Given the description of an element on the screen output the (x, y) to click on. 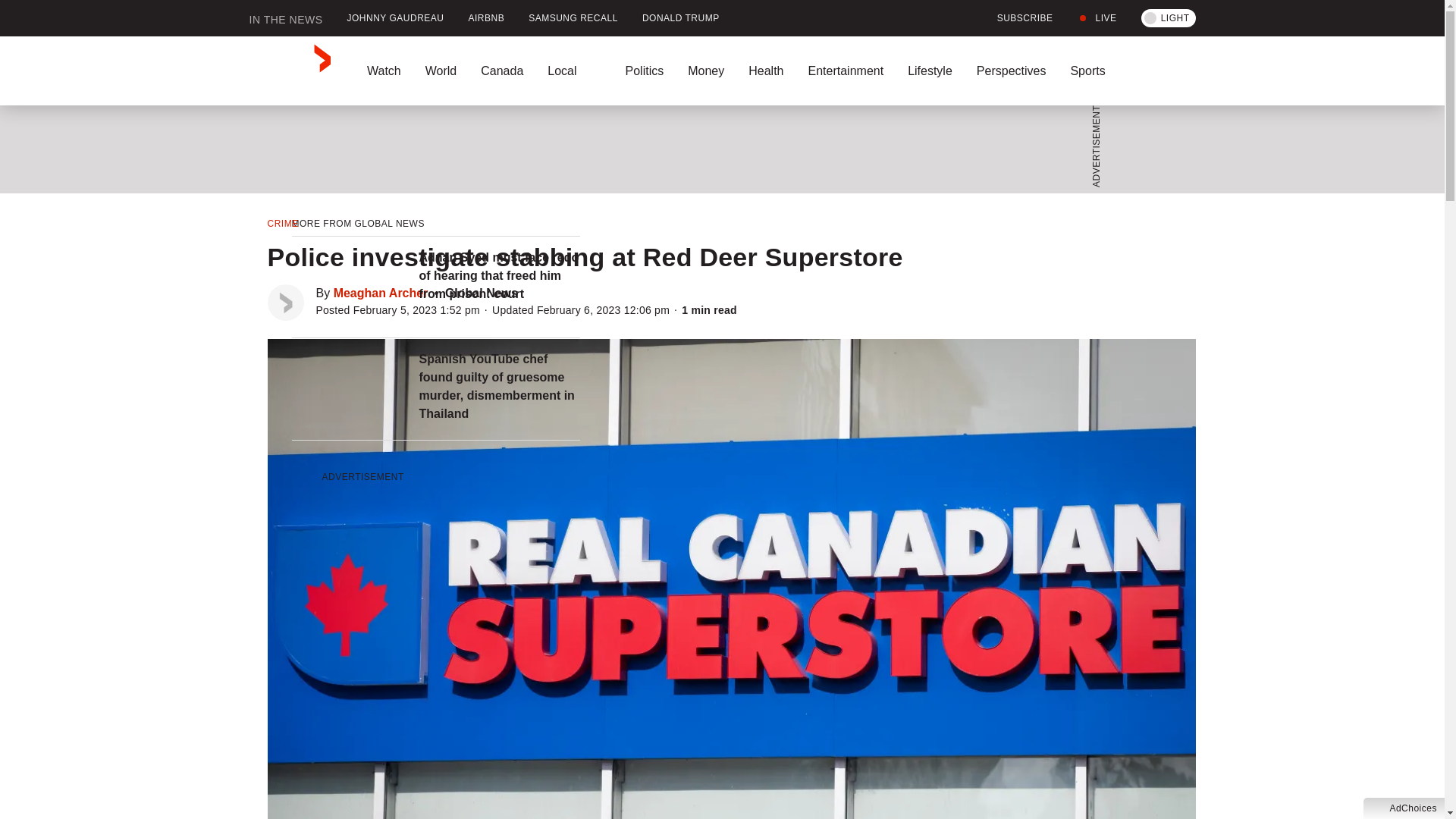
SUBSCRIBE (1015, 18)
Entertainment (844, 70)
Local (573, 70)
Politics (643, 70)
SAMSUNG RECALL (573, 18)
LIVE (1096, 18)
GlobalNews home (289, 70)
JOHNNY GAUDREAU (395, 18)
Canada (501, 70)
